Given the description of an element on the screen output the (x, y) to click on. 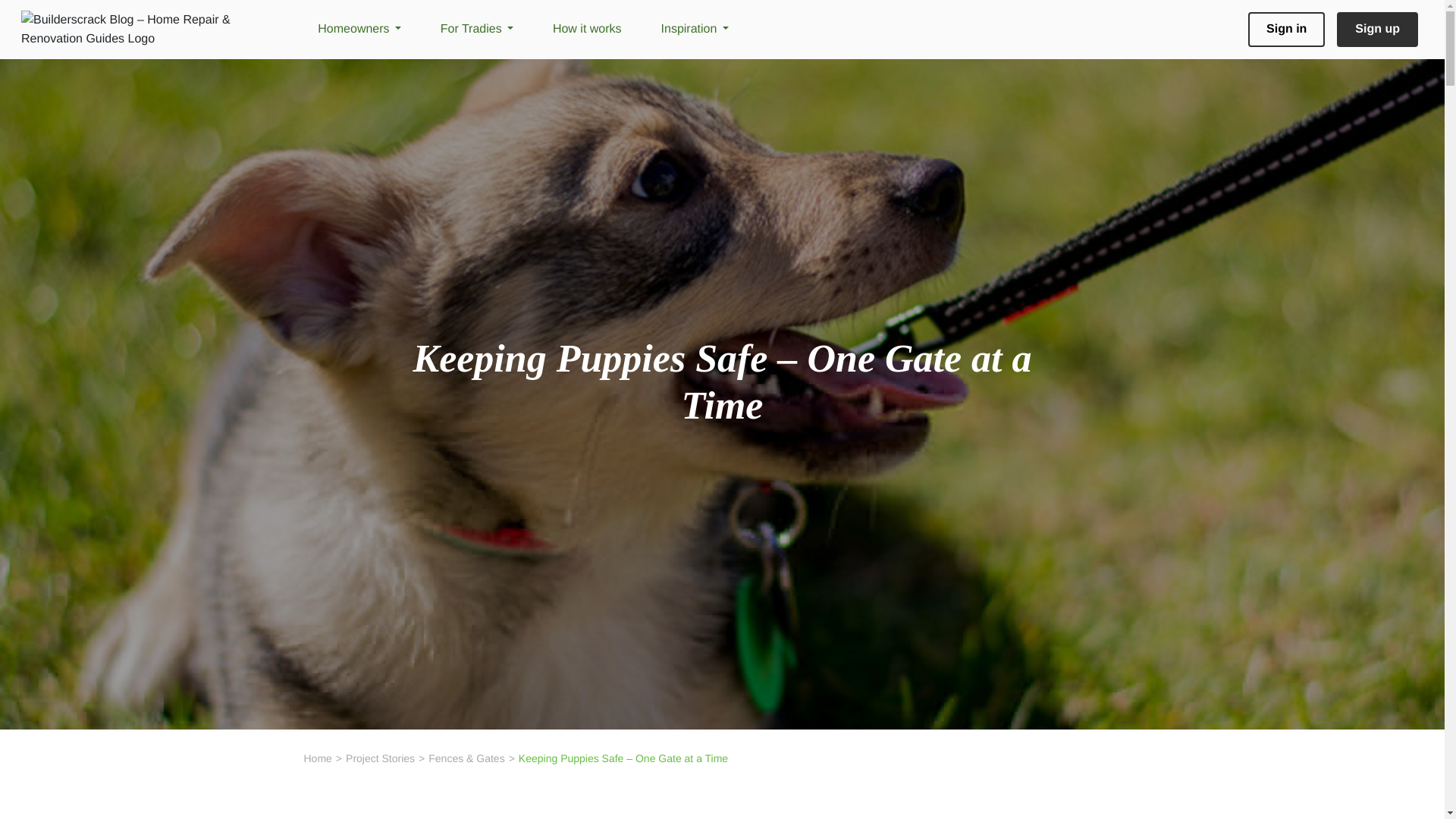
How it works (587, 29)
Inspiration (695, 29)
For Tradies (477, 29)
Sign up (1377, 29)
Sign in (1285, 29)
Homeowners (358, 29)
